Given the description of an element on the screen output the (x, y) to click on. 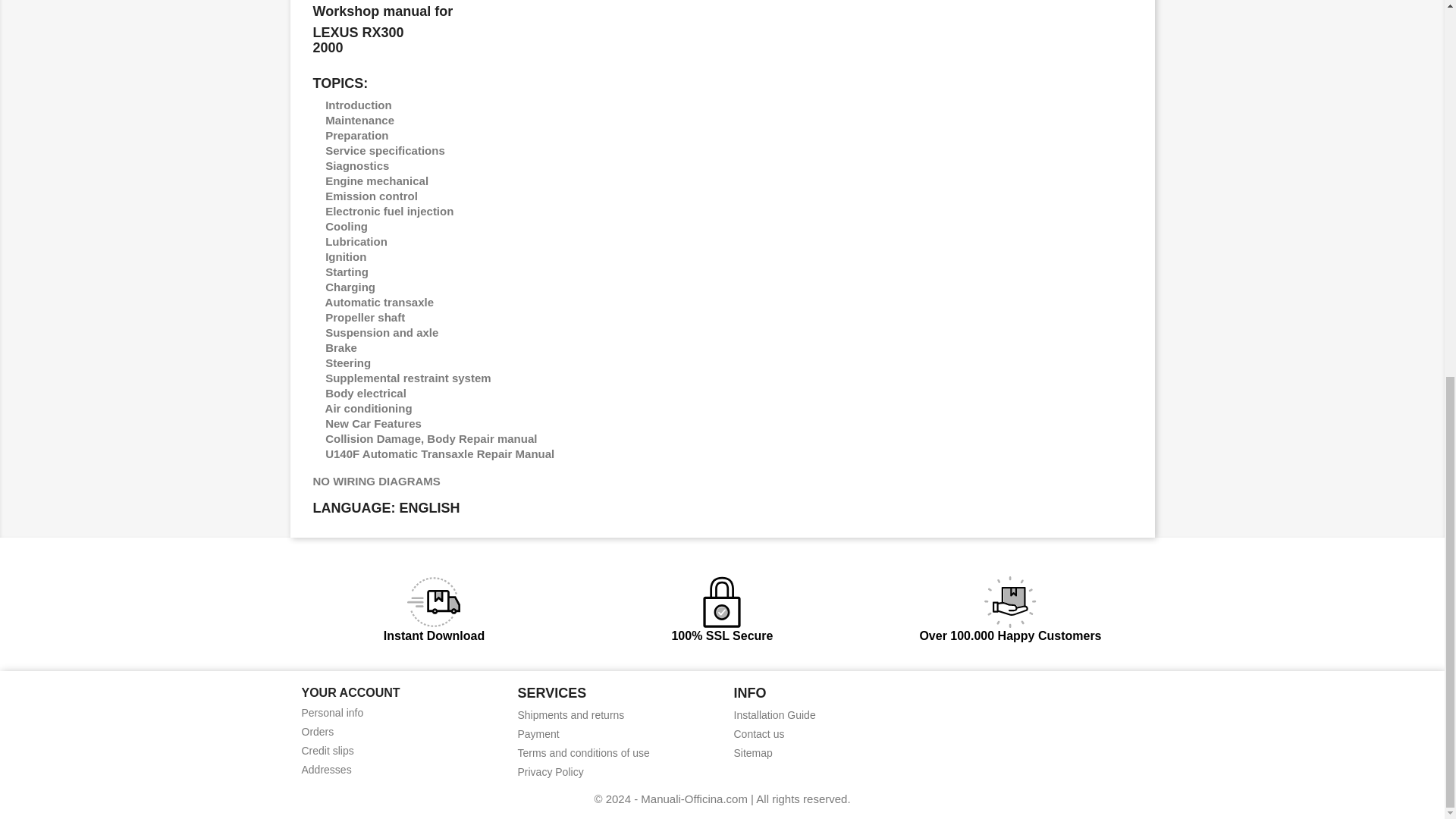
Our secure payment method (537, 734)
Addresses (326, 769)
Credit slips (327, 750)
Personal info (332, 712)
Orders (317, 731)
